Given the description of an element on the screen output the (x, y) to click on. 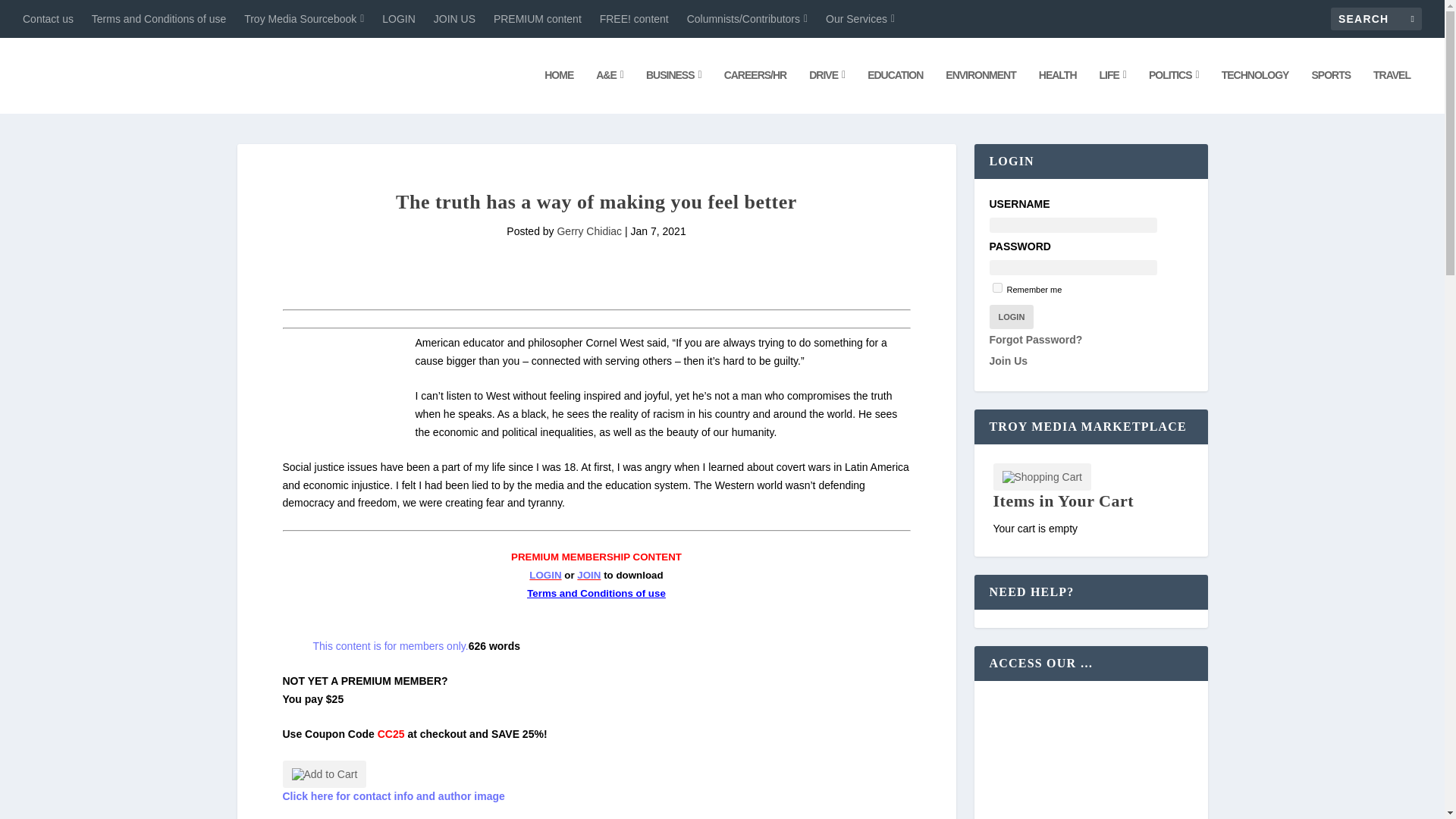
BUSINESS (673, 90)
Posts by Gerry Chidiac (588, 231)
JOIN US (454, 18)
Login (1010, 316)
Troy Media Sourcebook (304, 18)
Contact us (48, 18)
Our Services (860, 18)
EDUCATION (895, 90)
Shopping Cart (1042, 476)
forever (996, 287)
